Given the description of an element on the screen output the (x, y) to click on. 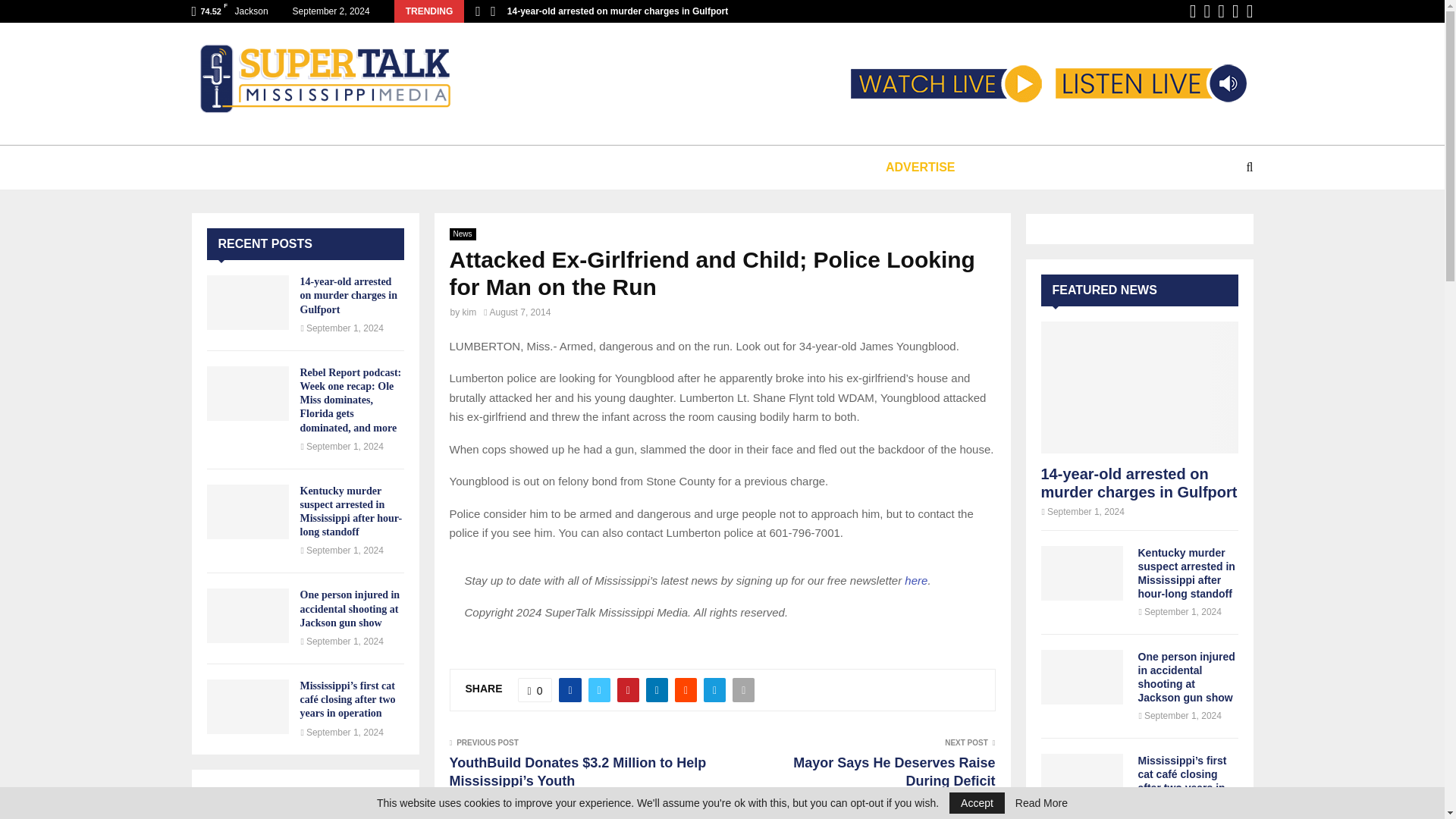
 14-year-old arrested on murder charges in Gulfport  (348, 295)
STATIONS (345, 167)
14-year-old arrested on murder charges in Gulfport (617, 10)
TUNE IN (255, 167)
14-year-old arrested on murder charges in Gulfport (247, 302)
Like (535, 689)
